Given the description of an element on the screen output the (x, y) to click on. 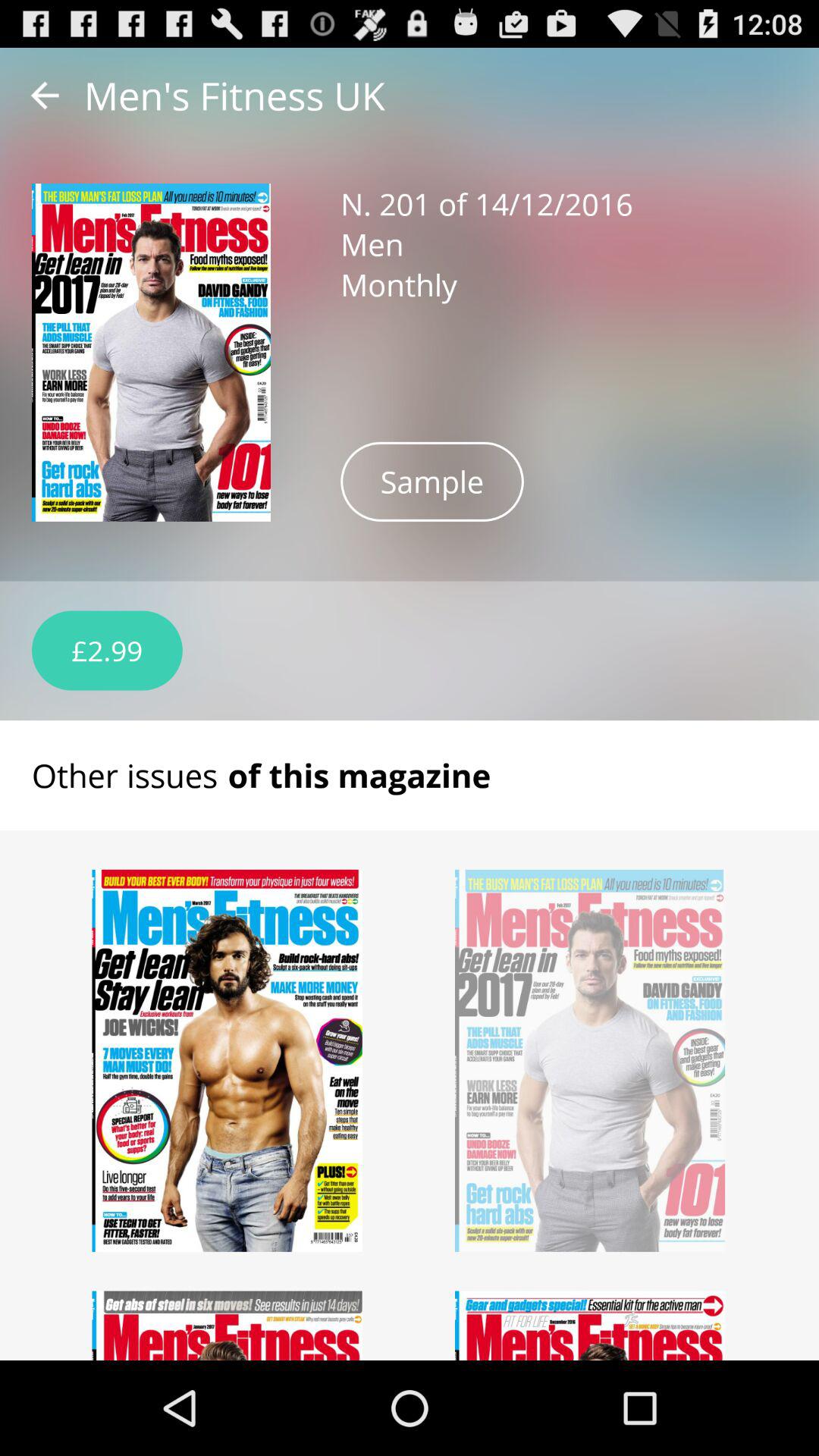
flip to the sample item (431, 481)
